Given the description of an element on the screen output the (x, y) to click on. 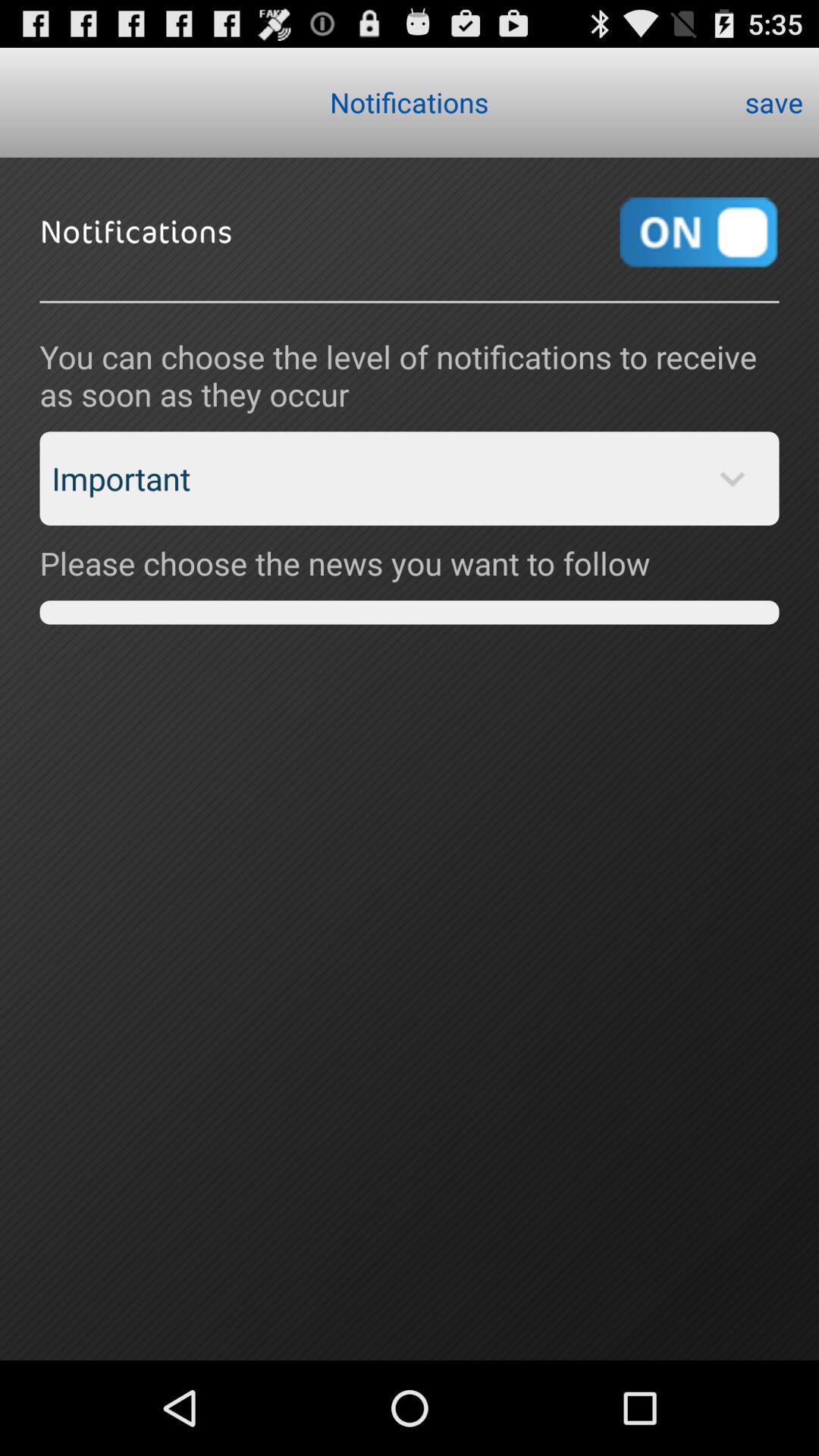
open the icon next to notifications item (774, 102)
